Given the description of an element on the screen output the (x, y) to click on. 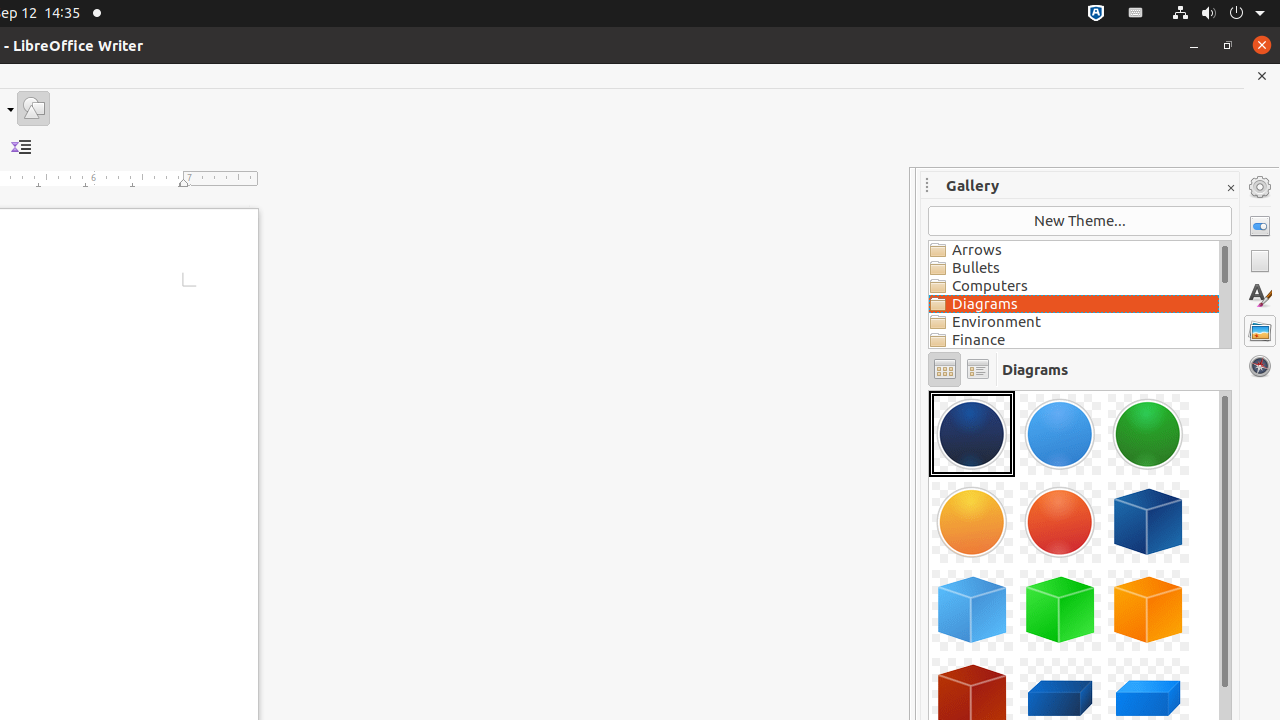
Properties Element type: radio-button (1260, 226)
Component-Sphere04-DarkRed Element type: list-item (929, 390)
Decrease Element type: push-button (21, 147)
Cycle01-Transparent Element type: list-item (929, 390)
Icon View Element type: toggle-button (944, 369)
